Given the description of an element on the screen output the (x, y) to click on. 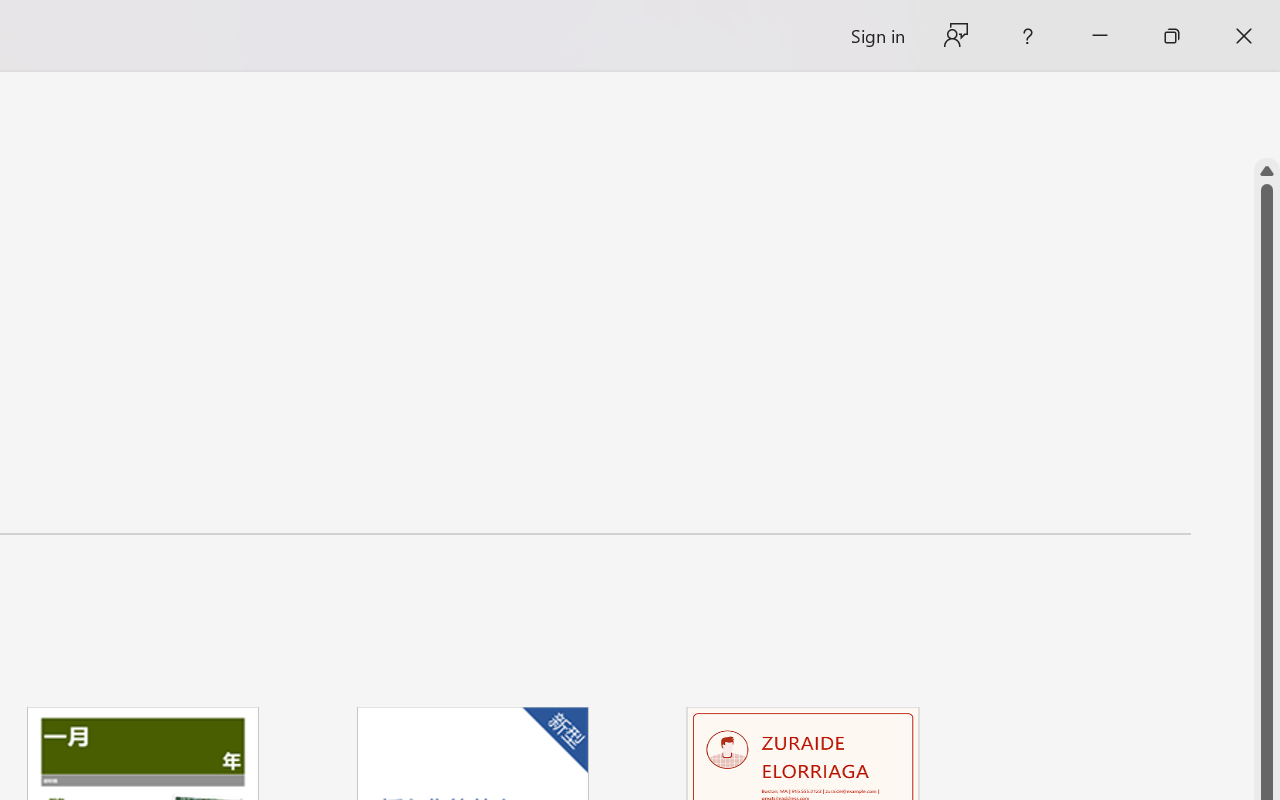
Line up (1267, 171)
